Given the description of an element on the screen output the (x, y) to click on. 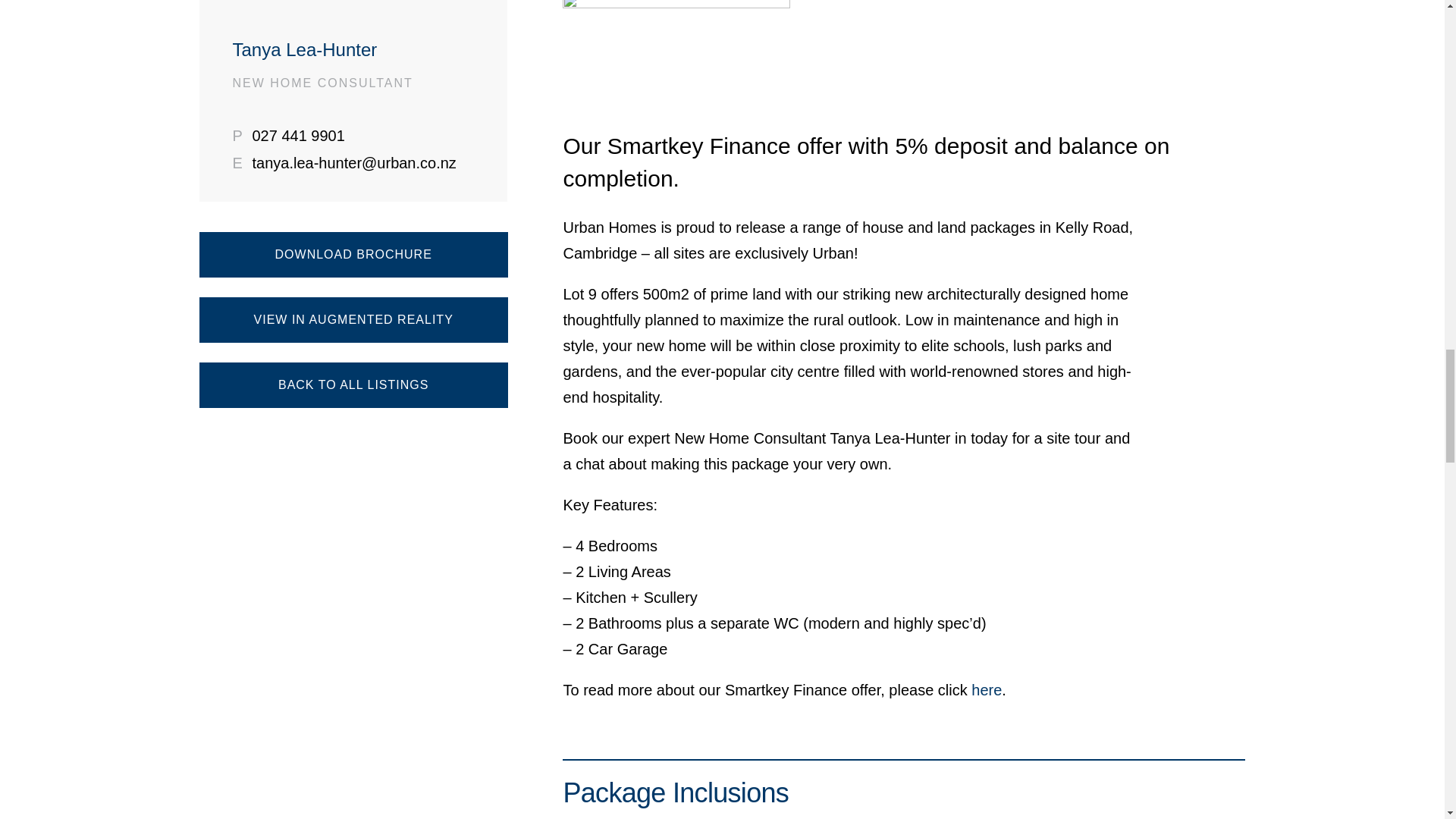
Mail Us (353, 162)
BACK TO ALL LISTINGS (352, 384)
Download Brochure (352, 254)
VIEW IN AUGMENTED REALITY (352, 320)
